Given the description of an element on the screen output the (x, y) to click on. 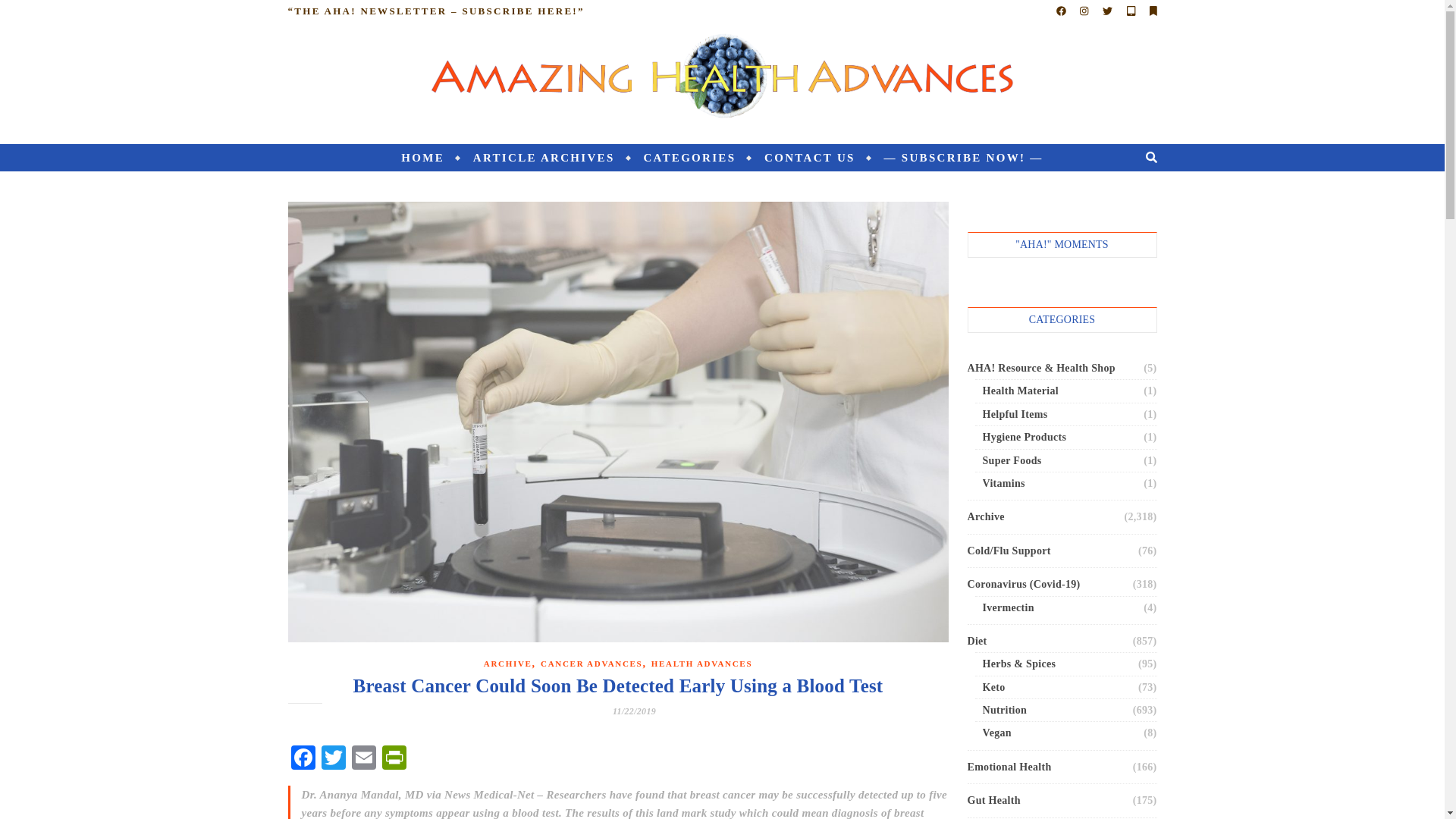
Email (363, 759)
CATEGORIES (689, 157)
PrintFriendly (393, 759)
HOME (429, 157)
ARTICLE ARCHIVES (543, 157)
Amazing Health Advances (722, 76)
Twitter (333, 759)
CONTACT US (809, 157)
Facebook (303, 759)
